Given the description of an element on the screen output the (x, y) to click on. 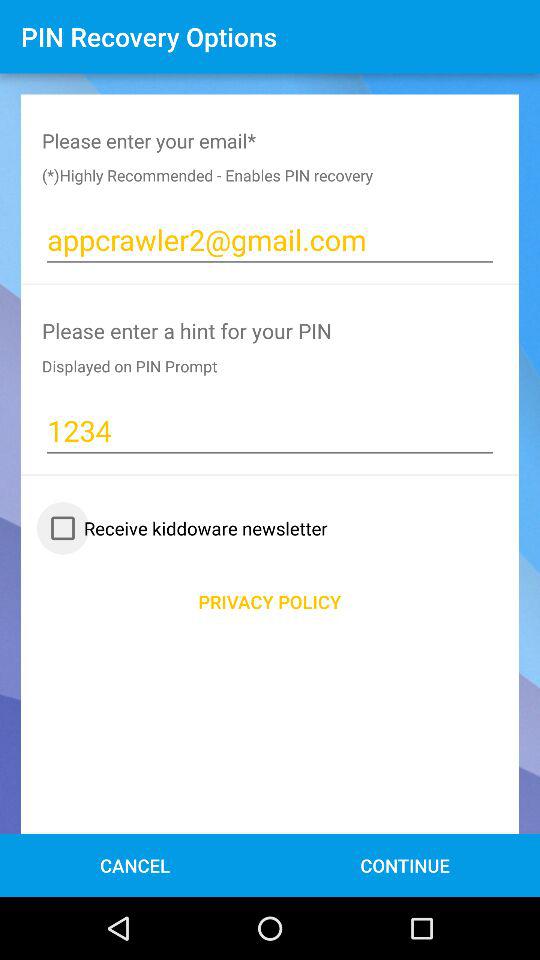
select the privacy policy (269, 601)
